Given the description of an element on the screen output the (x, y) to click on. 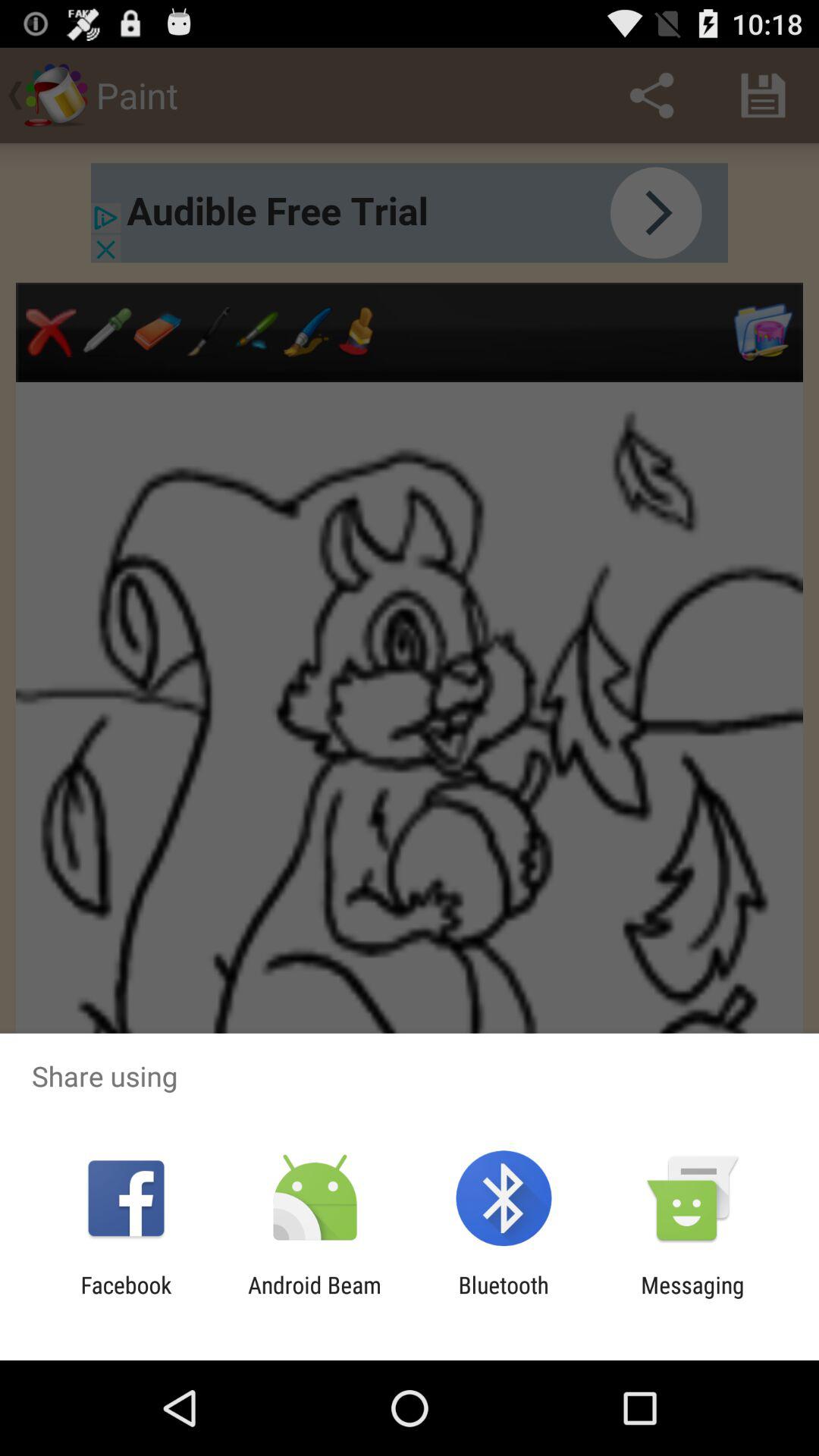
tap item to the left of the android beam icon (125, 1298)
